Given the description of an element on the screen output the (x, y) to click on. 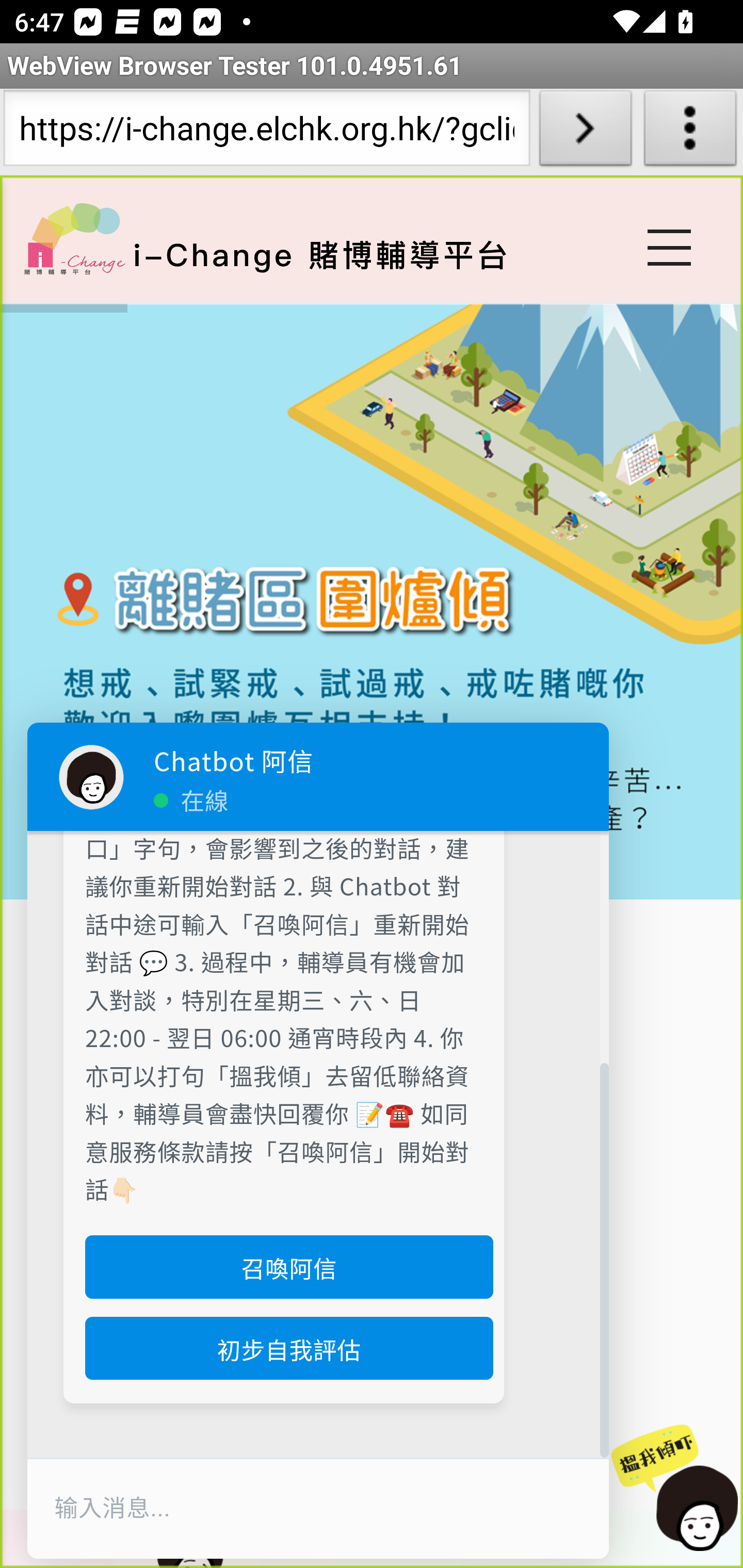
Load URL (585, 132)
About WebView (690, 132)
Home (74, 238)
Chat Now (674, 1488)
